Given the description of an element on the screen output the (x, y) to click on. 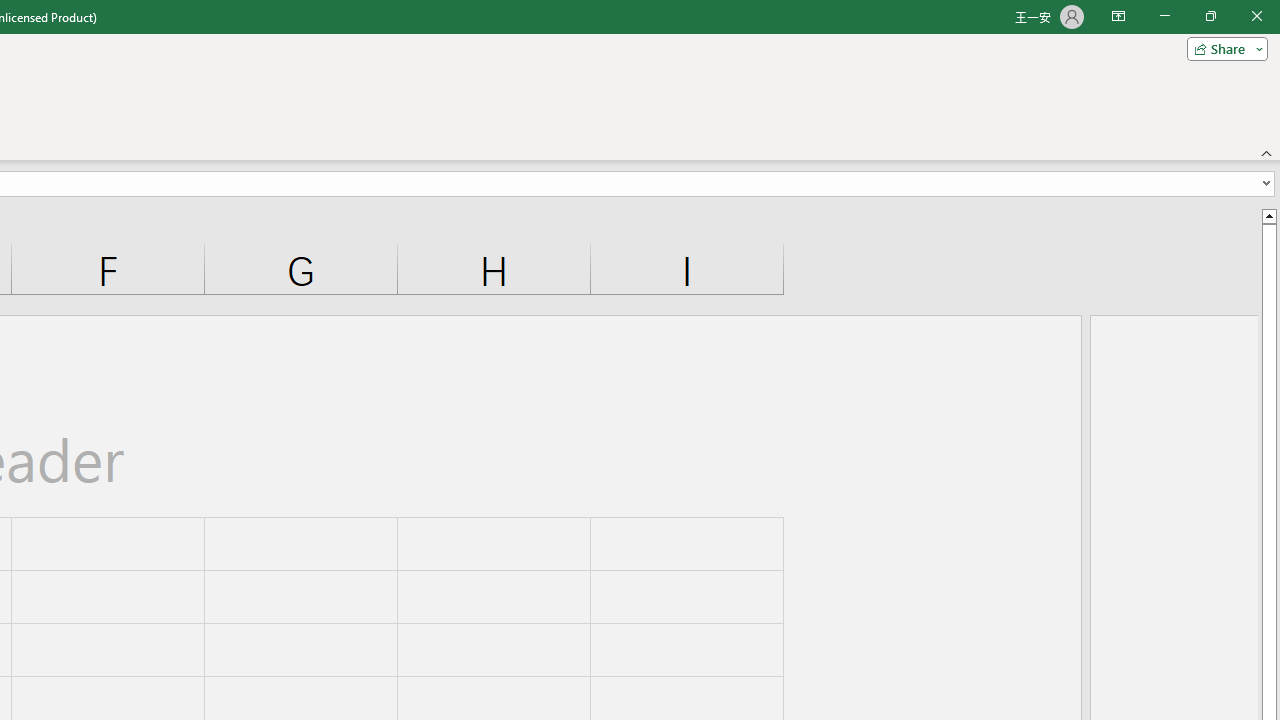
Restore Down (1210, 16)
